Given the description of an element on the screen output the (x, y) to click on. 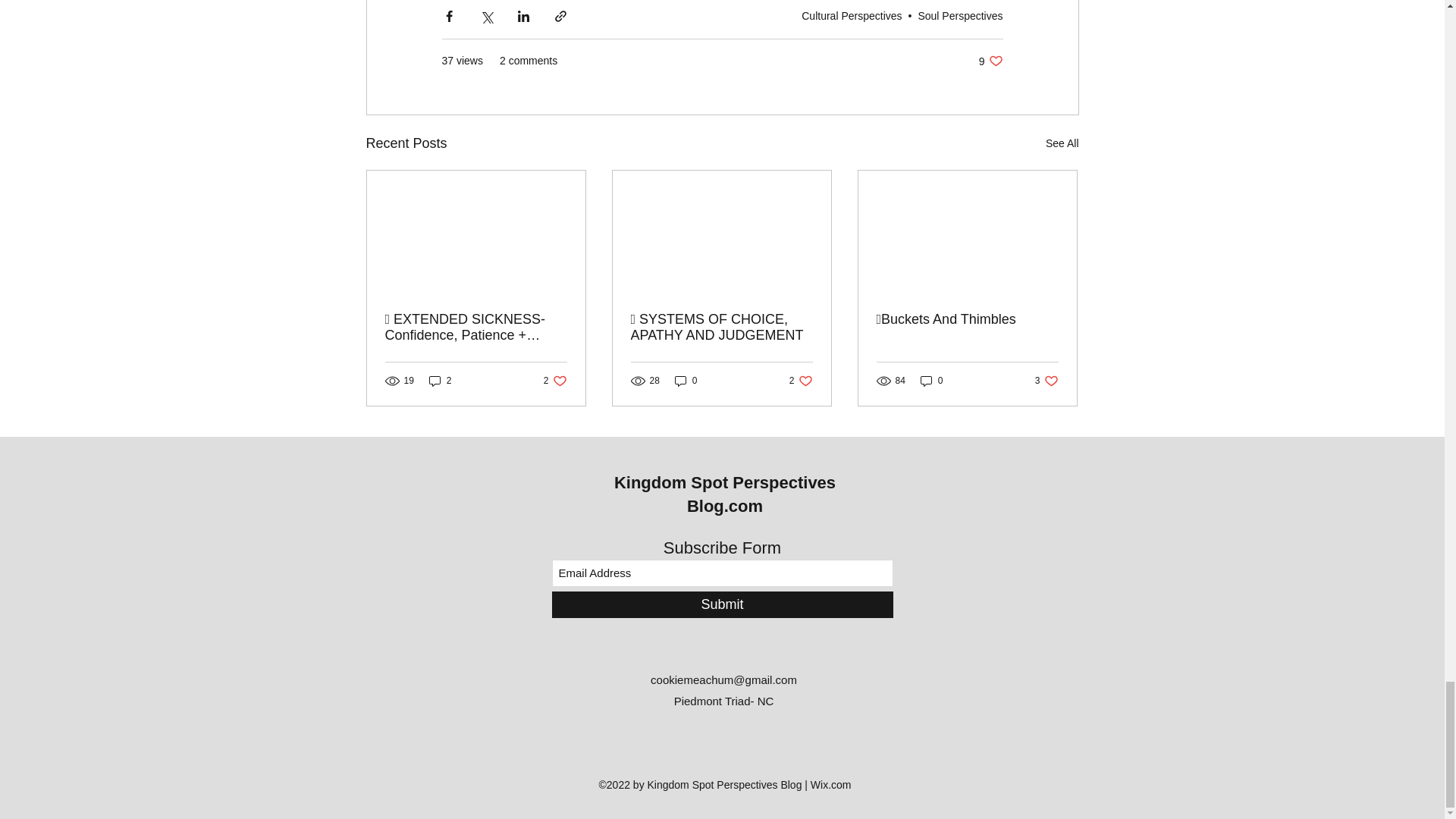
Cultural Perspectives (851, 15)
Soul Perspectives (960, 15)
See All (555, 380)
2 (1061, 143)
